Given the description of an element on the screen output the (x, y) to click on. 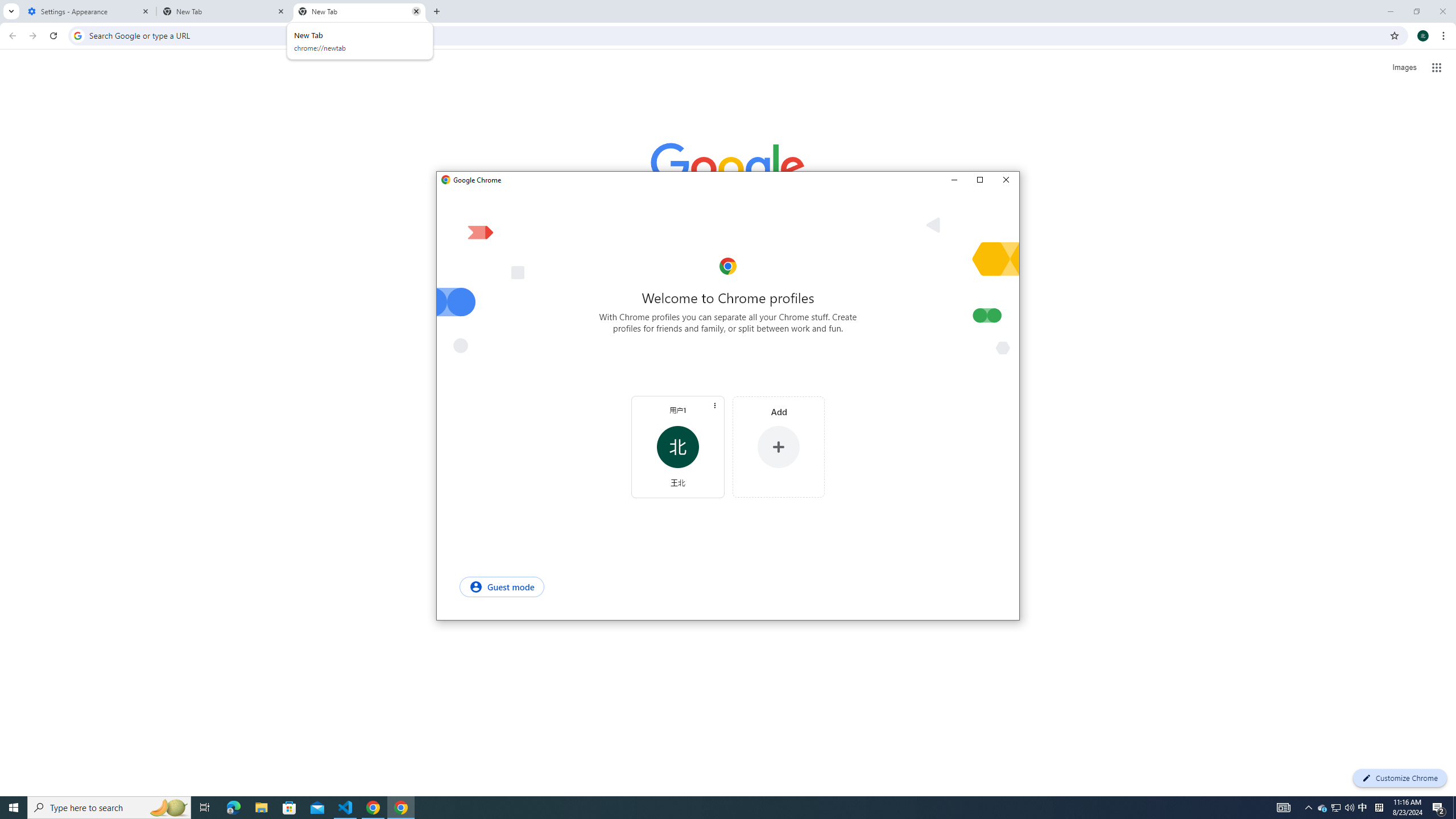
Rename your profile (677, 409)
